Given the description of an element on the screen output the (x, y) to click on. 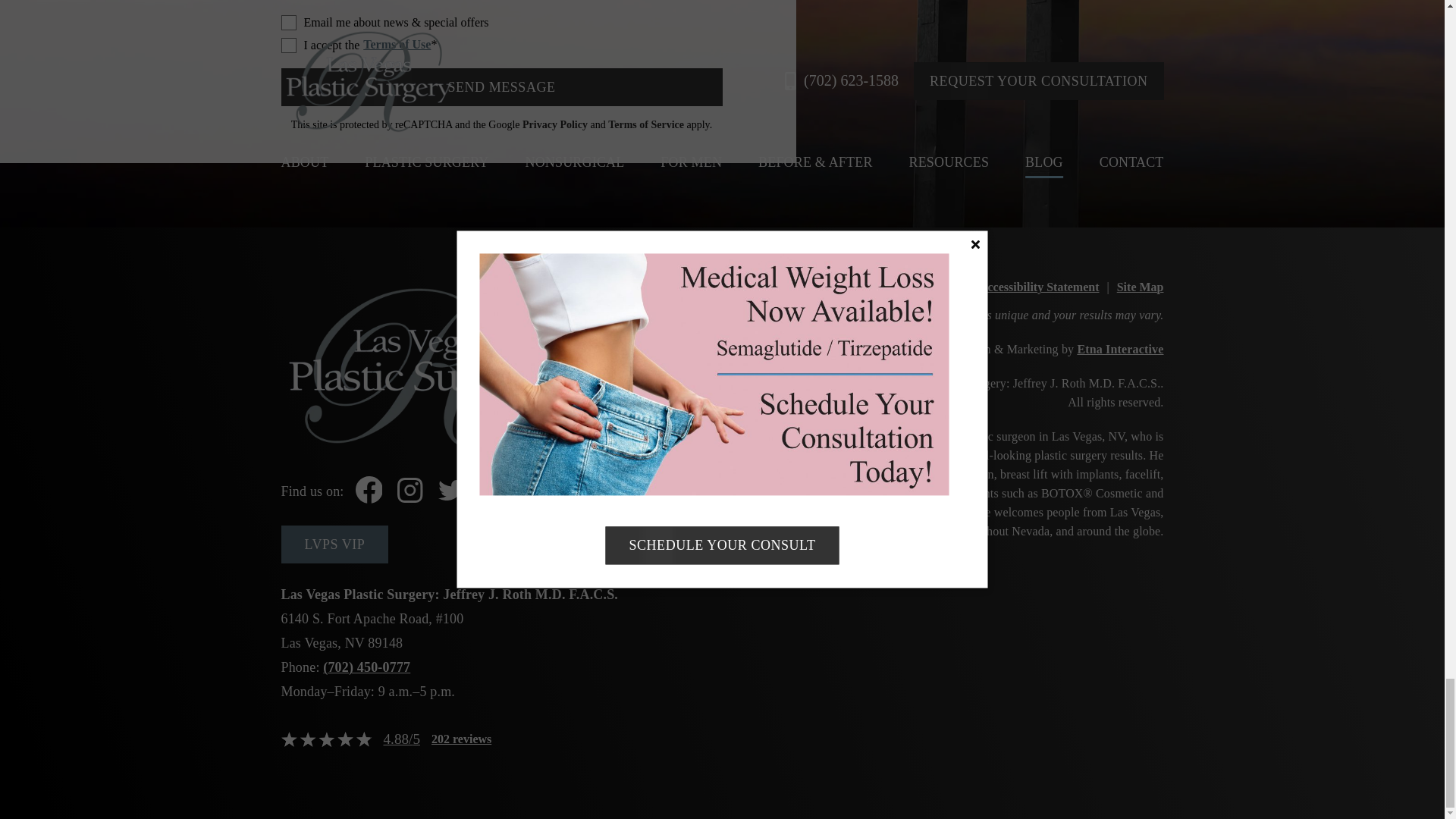
checked (288, 45)
checked (288, 22)
